Given the description of an element on the screen output the (x, y) to click on. 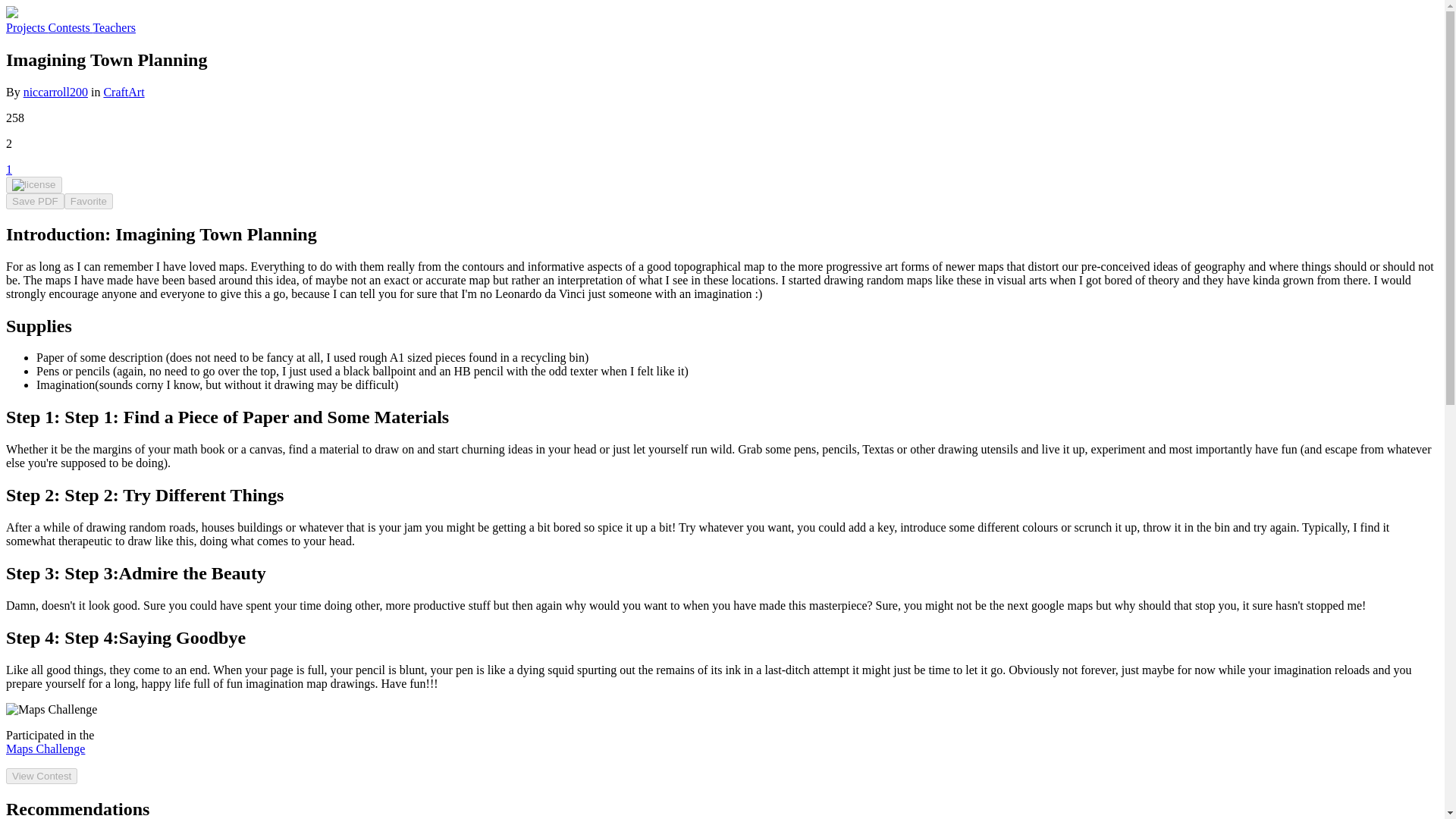
View Contest (41, 775)
niccarroll200 (55, 91)
Teachers (114, 27)
1 (8, 169)
Save PDF (34, 201)
Craft (115, 91)
Contests (70, 27)
Maps Challenge (44, 748)
Projects (26, 27)
Favorite (88, 201)
Art (136, 91)
